Given the description of an element on the screen output the (x, y) to click on. 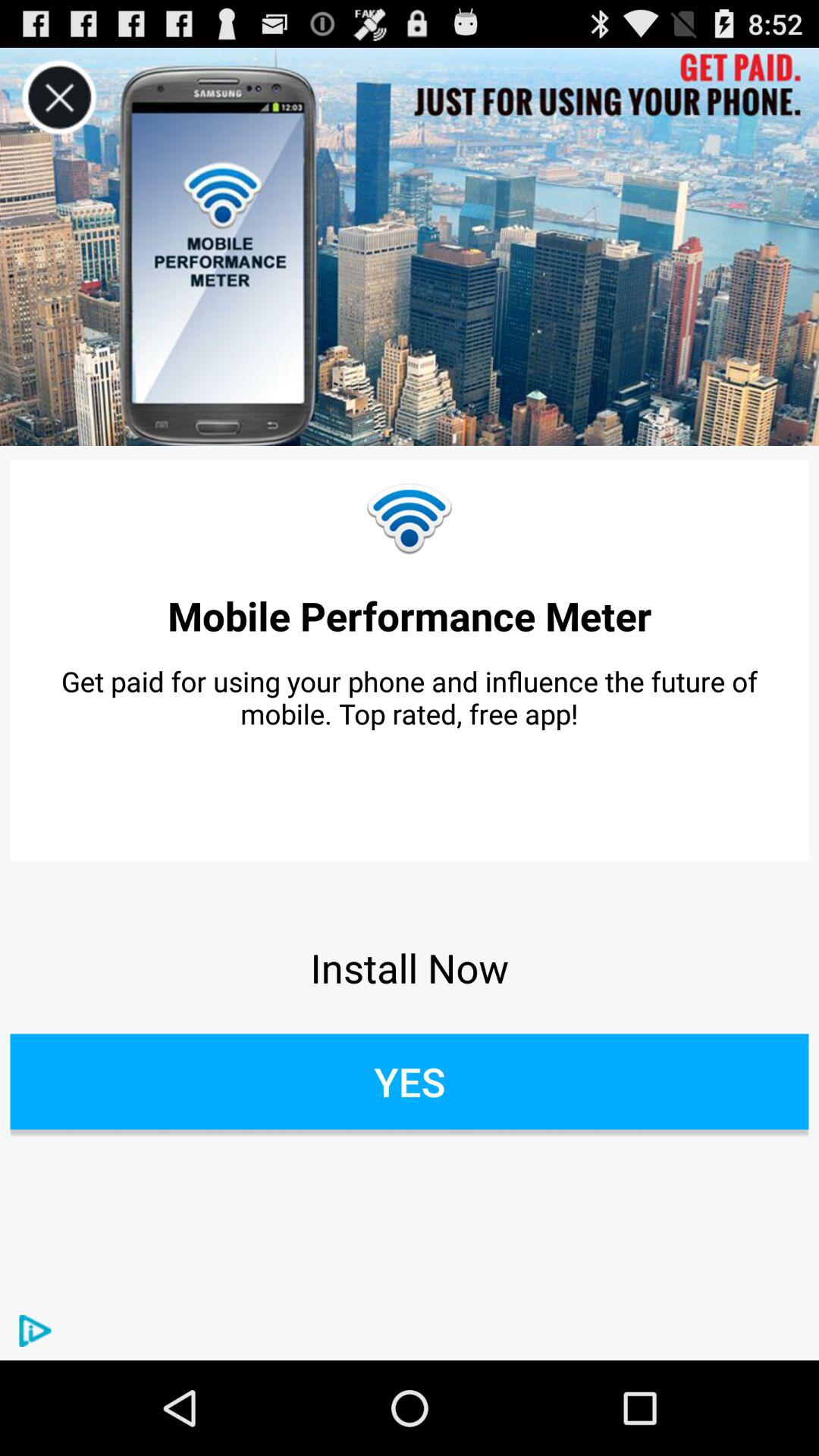
tap mobile performance meter app (409, 615)
